Given the description of an element on the screen output the (x, y) to click on. 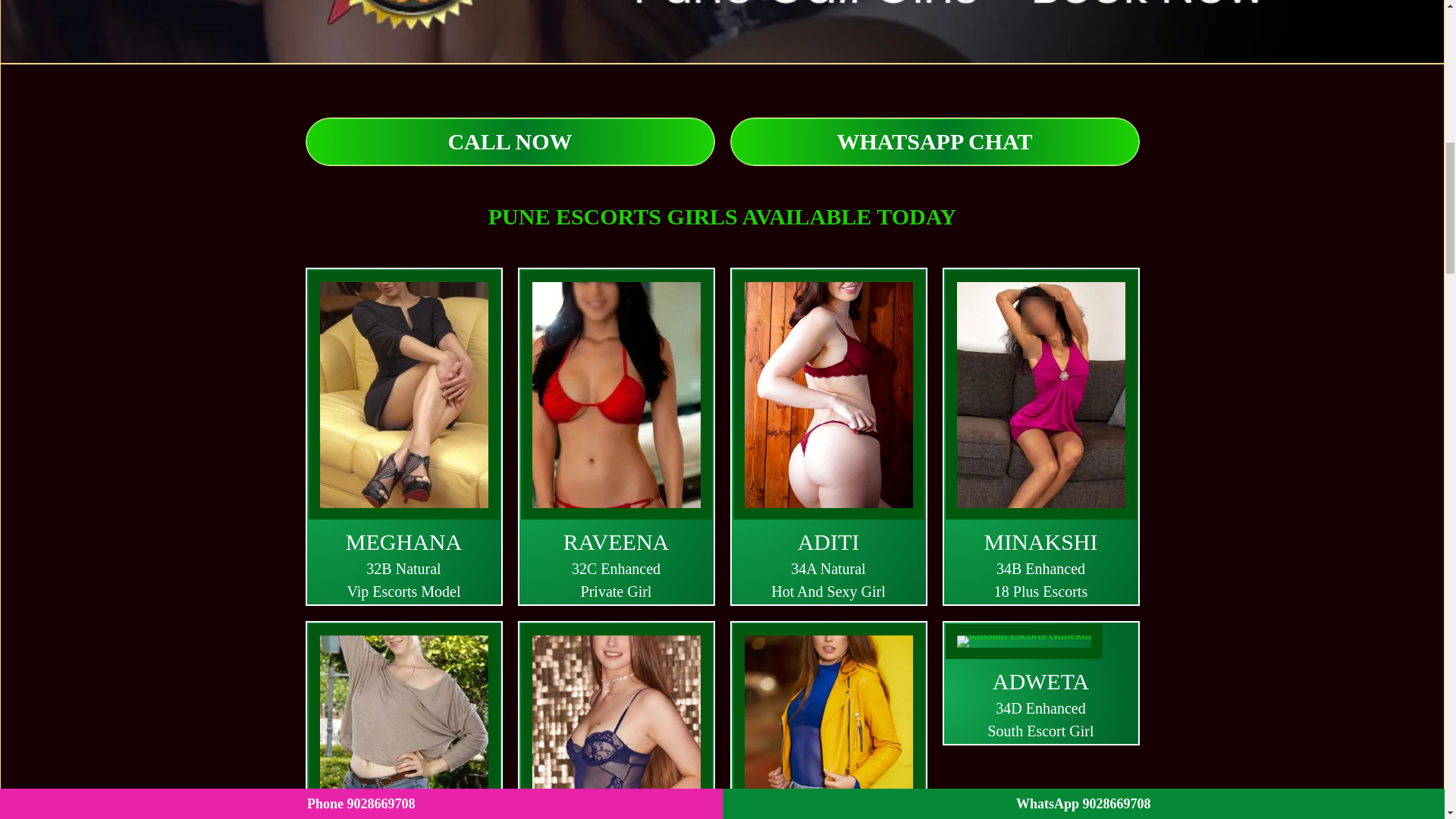
Sexy College Girl (722, 31)
Private Girl (615, 721)
Hot And Sexy Girl (827, 721)
CALL NOW (509, 141)
Young Escorts (1023, 641)
WHATSAPP CHAT (934, 141)
